Given the description of an element on the screen output the (x, y) to click on. 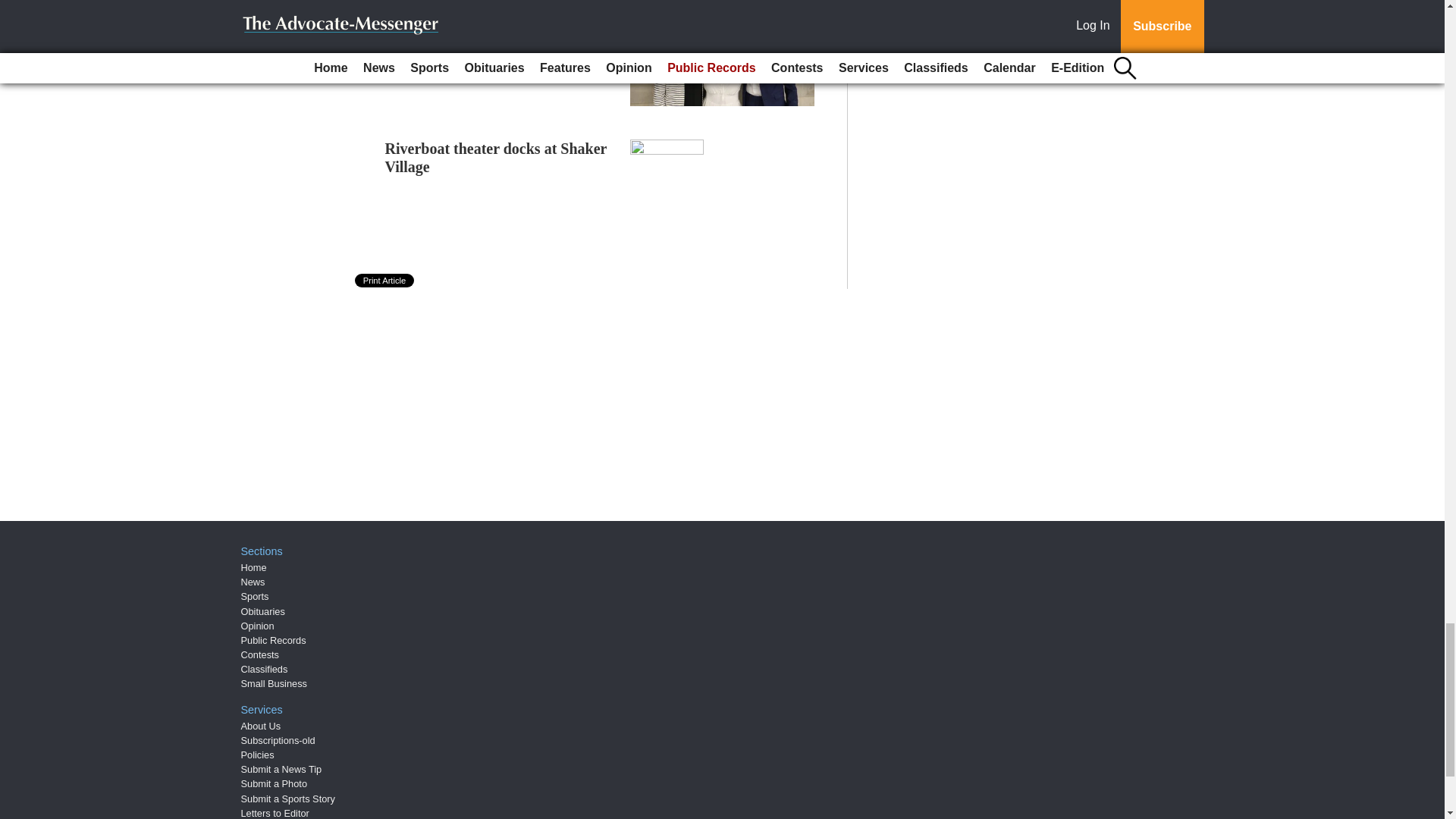
Riverboat theater docks at Shaker Village (496, 157)
Riverboat theater docks at Shaker Village (496, 157)
Print Article (384, 280)
